Given the description of an element on the screen output the (x, y) to click on. 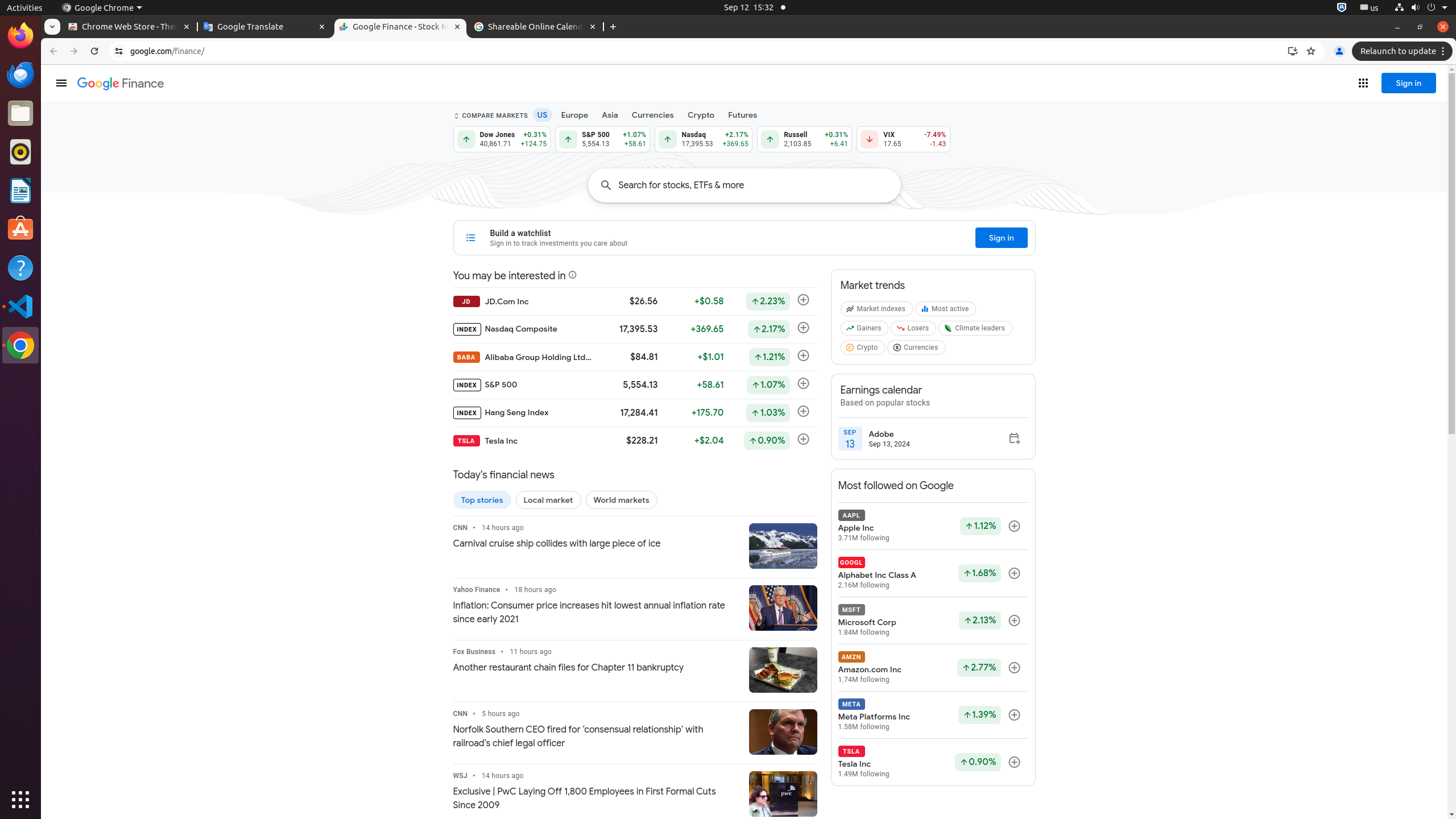
GOOGL Alphabet Inc Class A 2.16M following Up by 1.68% Follow Element type: link (932, 573)
CNN •  14 hours ago Carnival cruise ship collides with large piece of ice Element type: link (595, 536)
Reload Element type: push-button (94, 50)
Search for stocks, ETFs & more Element type: combo-box (759, 185)
Russell 2,103.85 Up by 0.31% +6.41 Element type: link (804, 139)
